Given the description of an element on the screen output the (x, y) to click on. 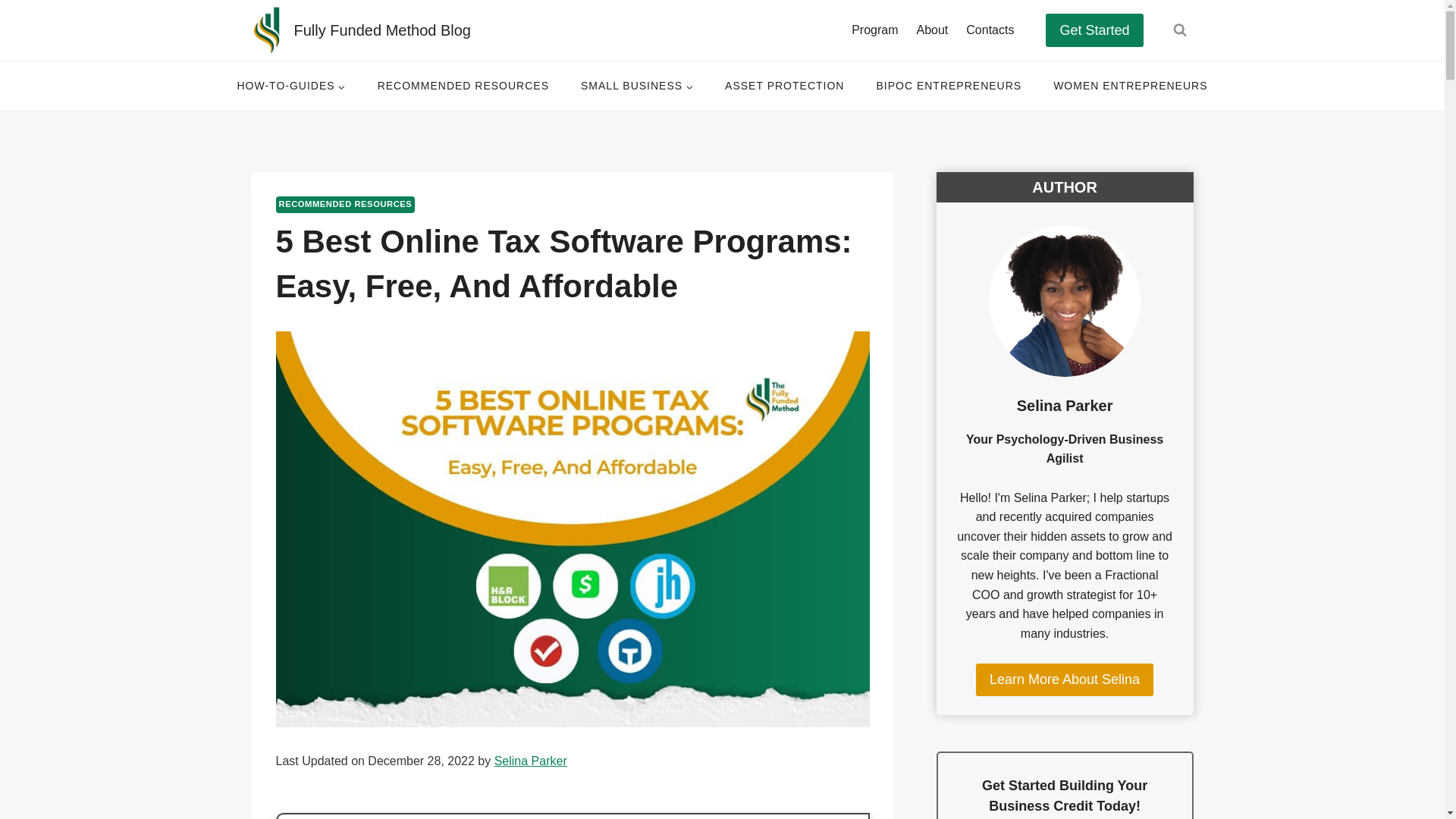
RECOMMENDED RESOURCES (462, 85)
WOMEN ENTREPRENEURS (1129, 85)
About (931, 30)
Contacts (989, 30)
HOW-TO-GUIDES (291, 85)
ASSET PROTECTION (784, 85)
SMALL BUSINESS (636, 85)
Program (875, 30)
Get Started (1093, 29)
Selina Parker (531, 760)
RECOMMENDED RESOURCES (345, 204)
Fully Funded Method Blog (360, 29)
BIPOC ENTREPRENEURS (948, 85)
